Given the description of an element on the screen output the (x, y) to click on. 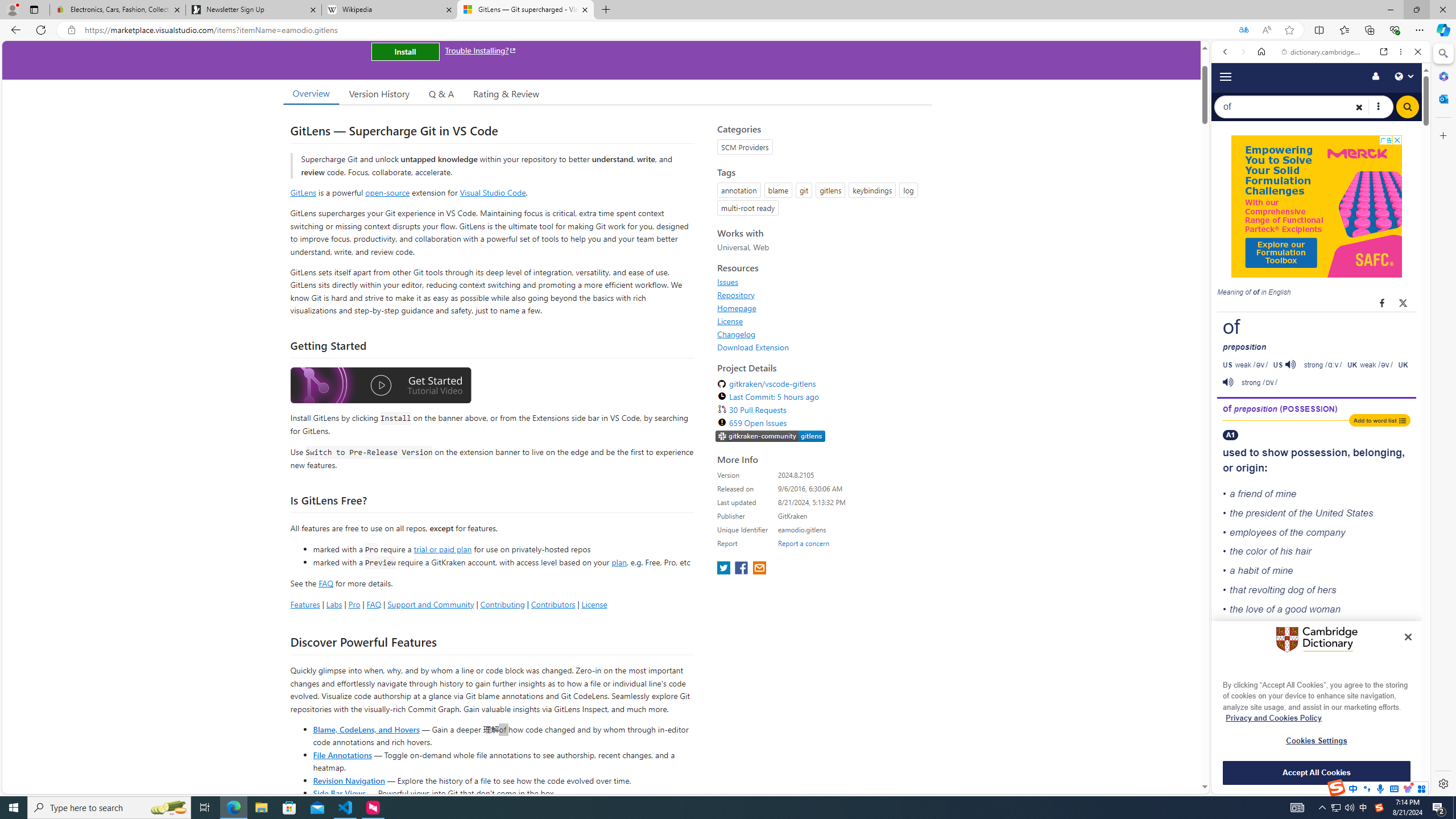
belonging (1377, 452)
love (1253, 609)
Pro (354, 603)
Overview (310, 92)
Watch the GitLens Getting Started video (380, 387)
elected (1294, 721)
AutomationID: cbb (1396, 139)
